Given the description of an element on the screen output the (x, y) to click on. 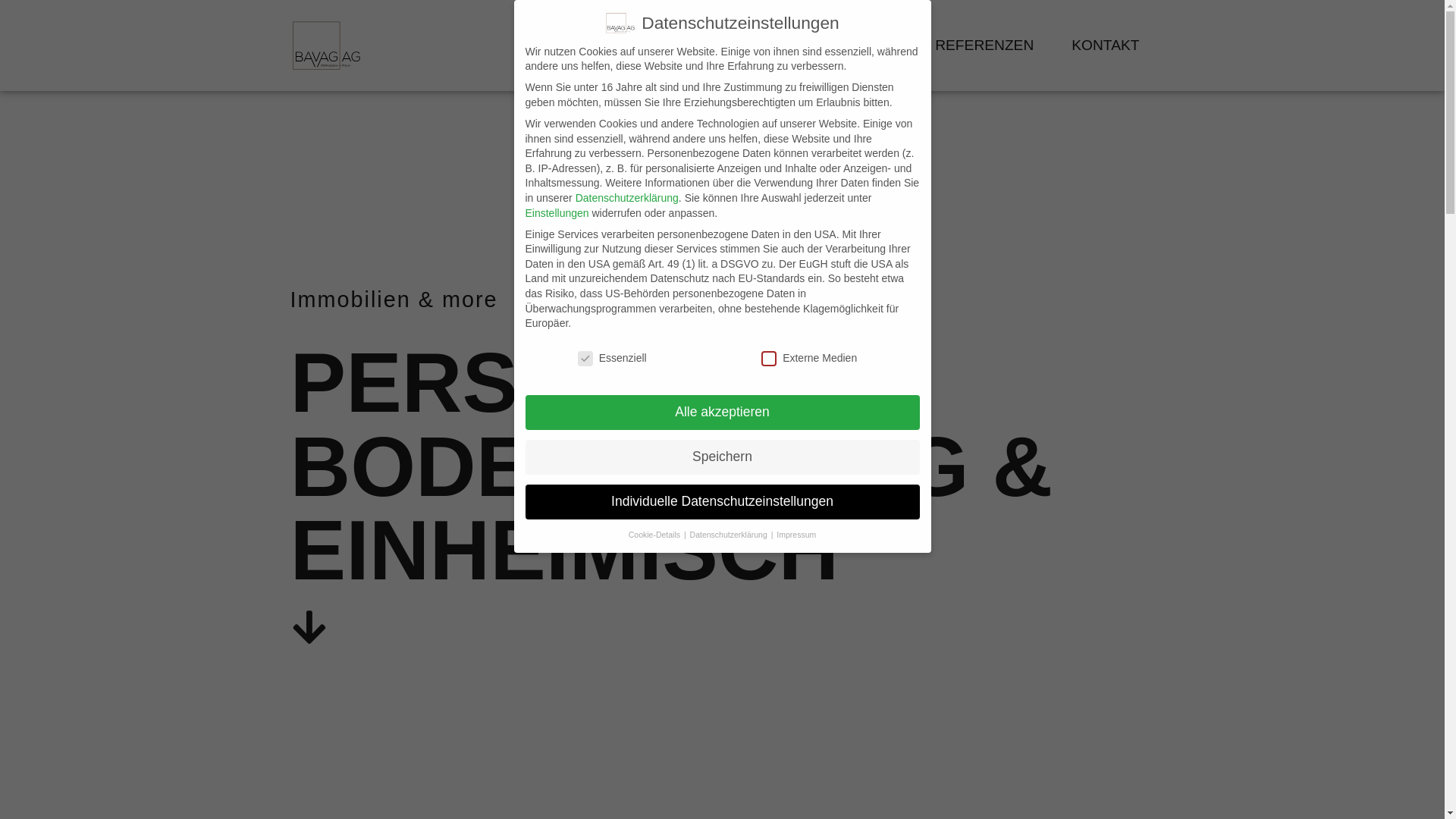
Einstellungen Element type: text (556, 213)
REFERENZEN Element type: text (983, 45)
Speichern Element type: text (721, 456)
OBJEKTE Element type: text (863, 45)
Impressum Element type: text (795, 534)
KONTAKT Element type: text (1105, 45)
LEISTUNGEN Element type: text (746, 45)
Cookie-Details Element type: text (655, 534)
BAVAG AG Element type: text (625, 45)
Individuelle Datenschutzeinstellungen Element type: text (721, 501)
Alle akzeptieren Element type: text (721, 412)
